Given the description of an element on the screen output the (x, y) to click on. 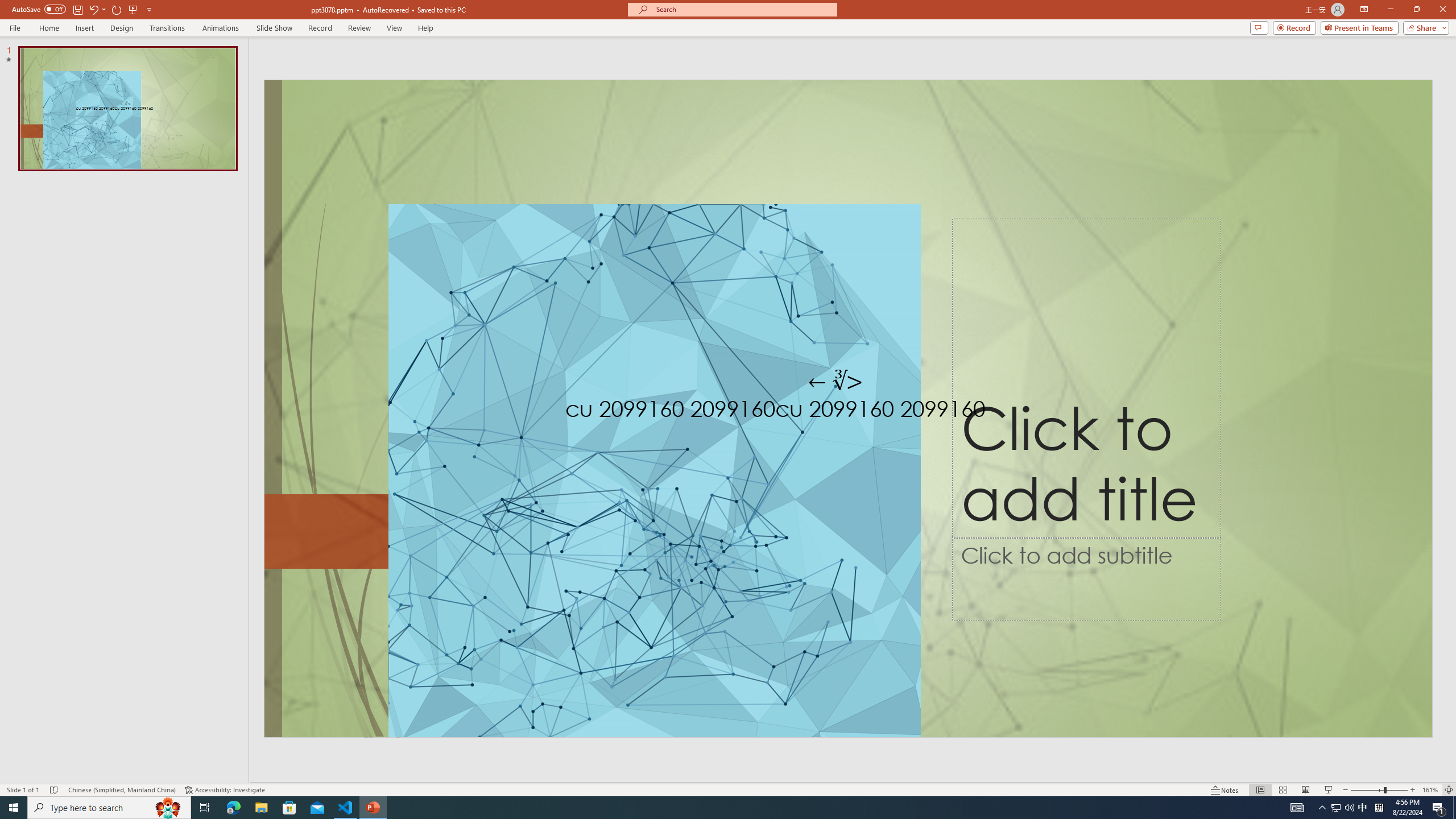
Zoom 161% (1430, 790)
